Given the description of an element on the screen output the (x, y) to click on. 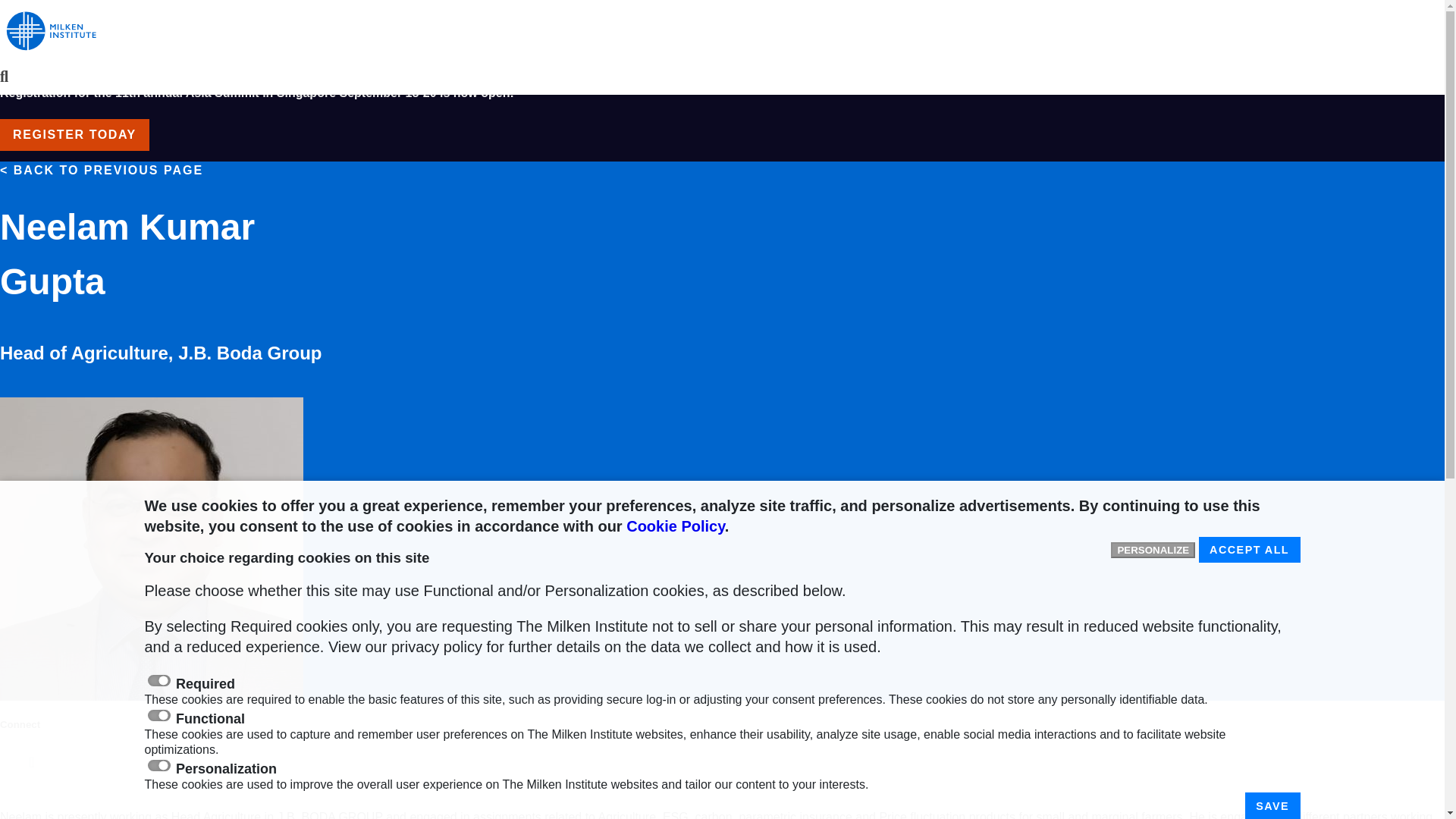
REGISTER TODAY (74, 134)
personalization (158, 765)
functional (158, 715)
required (158, 680)
